Given the description of an element on the screen output the (x, y) to click on. 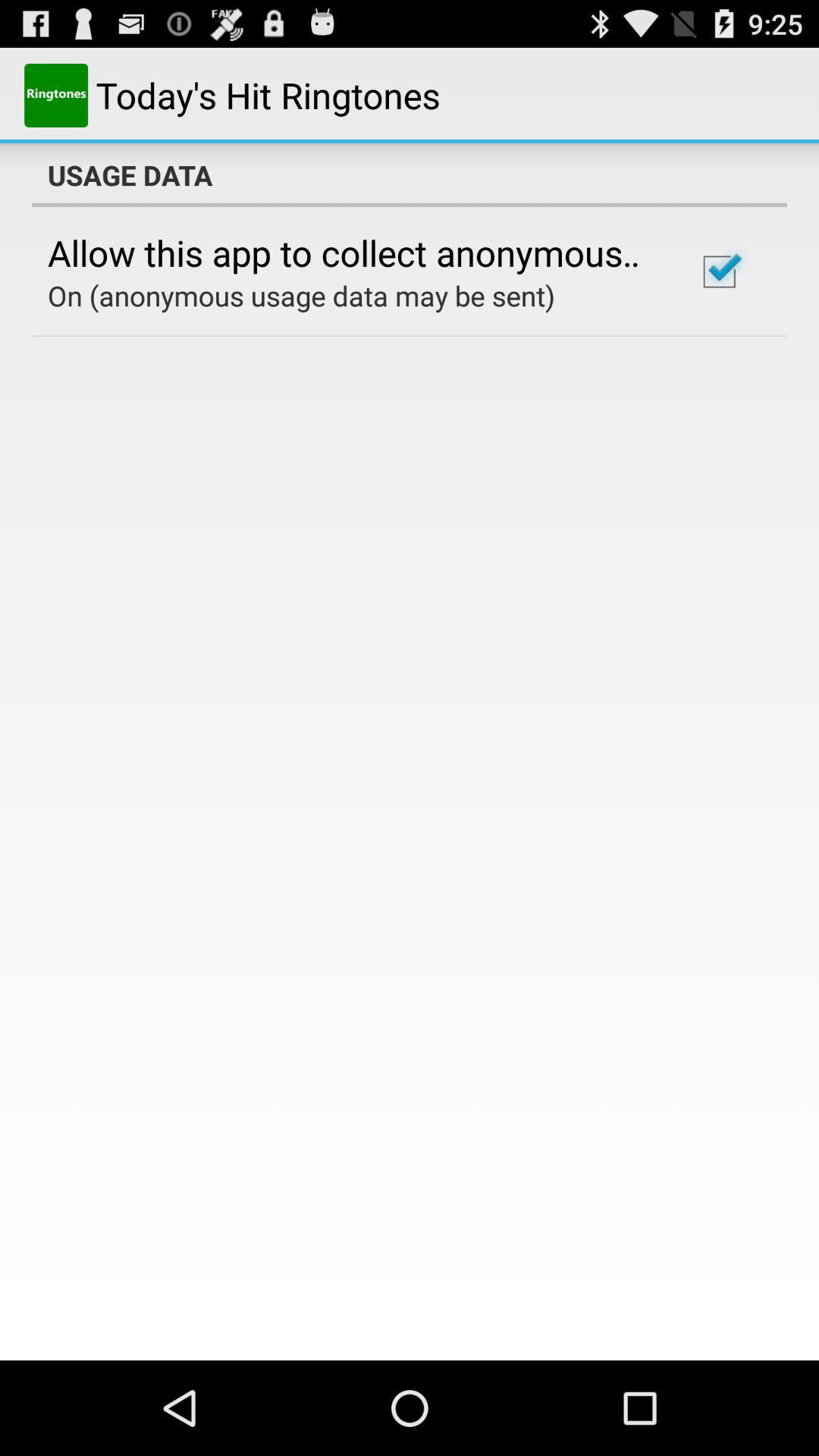
turn off icon to the right of the allow this app (719, 271)
